Given the description of an element on the screen output the (x, y) to click on. 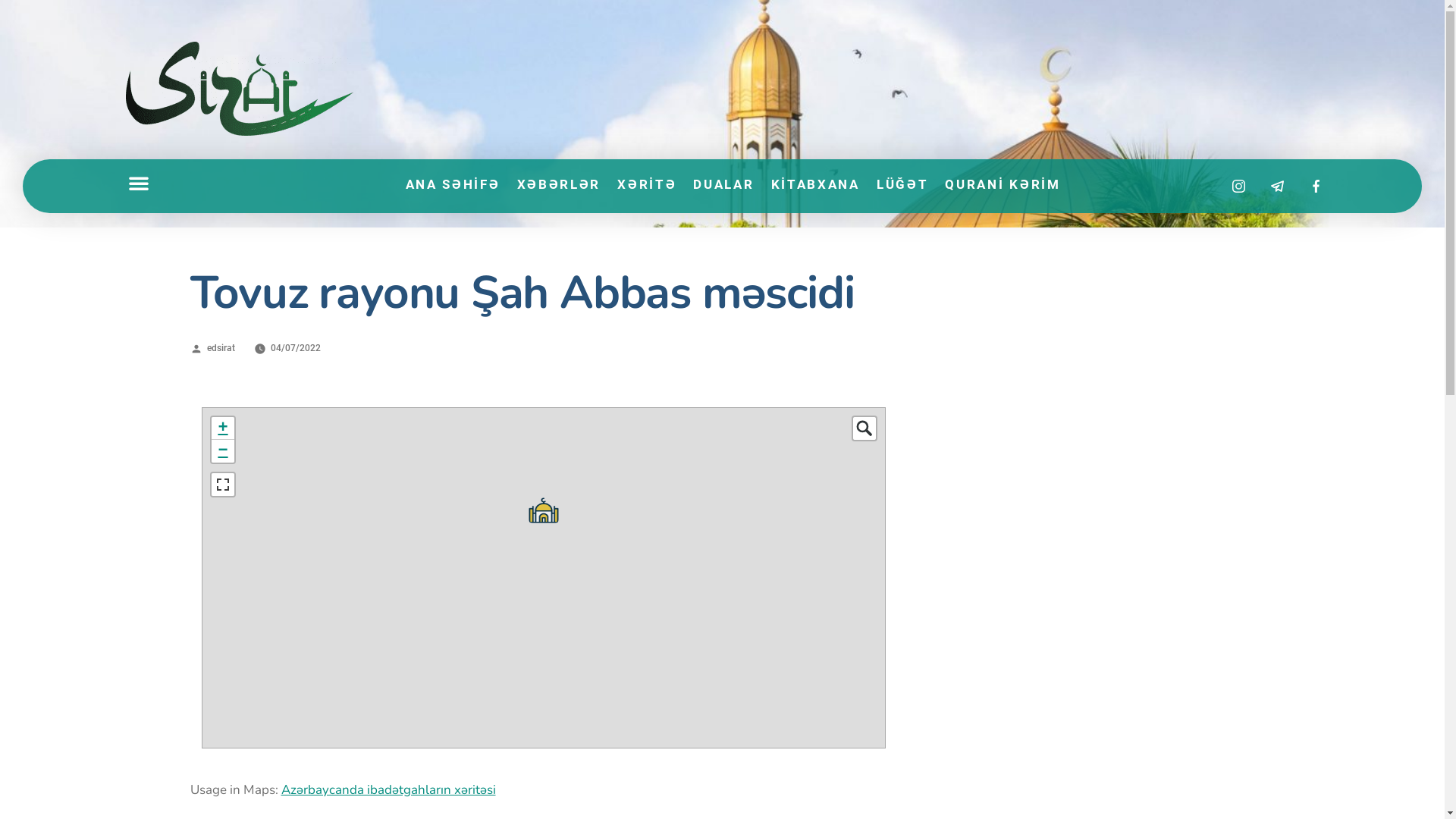
edsirat Element type: text (221, 347)
DUALAR Element type: text (723, 183)
04/07/2022 Element type: text (295, 347)
KITABXANA Element type: text (815, 183)
View Fullscreen Element type: hover (221, 484)
+ Element type: text (221, 428)
